Given the description of an element on the screen output the (x, y) to click on. 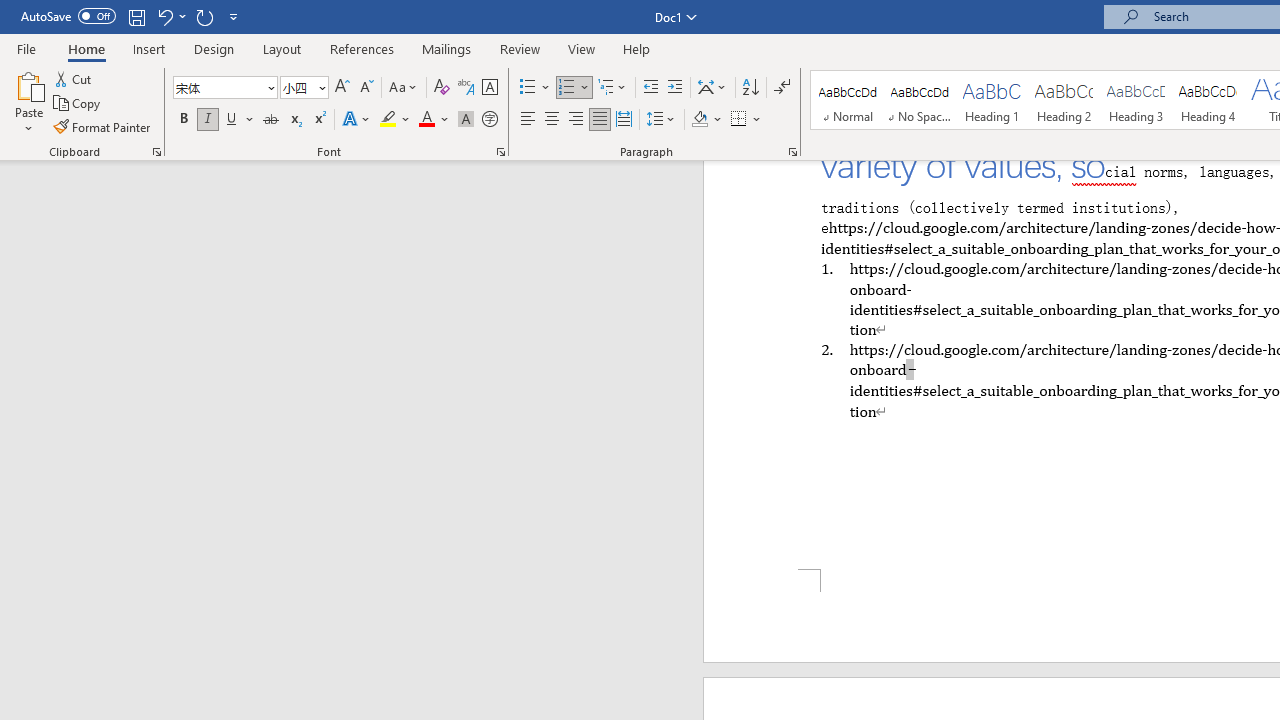
Undo Apply Quick Style (164, 15)
